Given the description of an element on the screen output the (x, y) to click on. 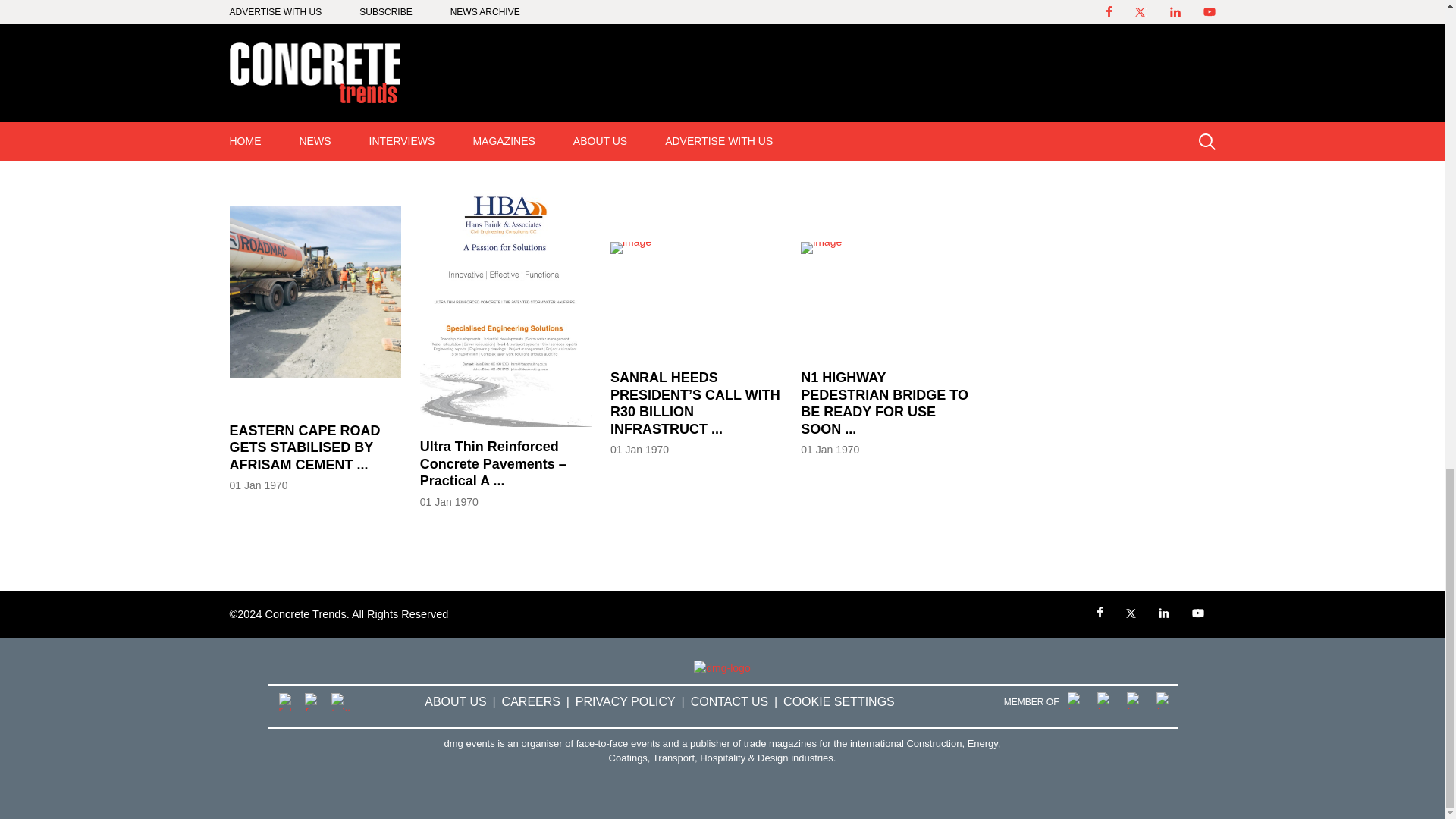
roads (251, 86)
N1 HIGHWAY PEDESTRIAN BRIDGE TO BE READY FOR USE SOON ... (886, 412)
EASTERN CAPE ROAD GETS STABILISED BY AFRISAM CEMENT ... (314, 457)
sanral (300, 86)
